Given the description of an element on the screen output the (x, y) to click on. 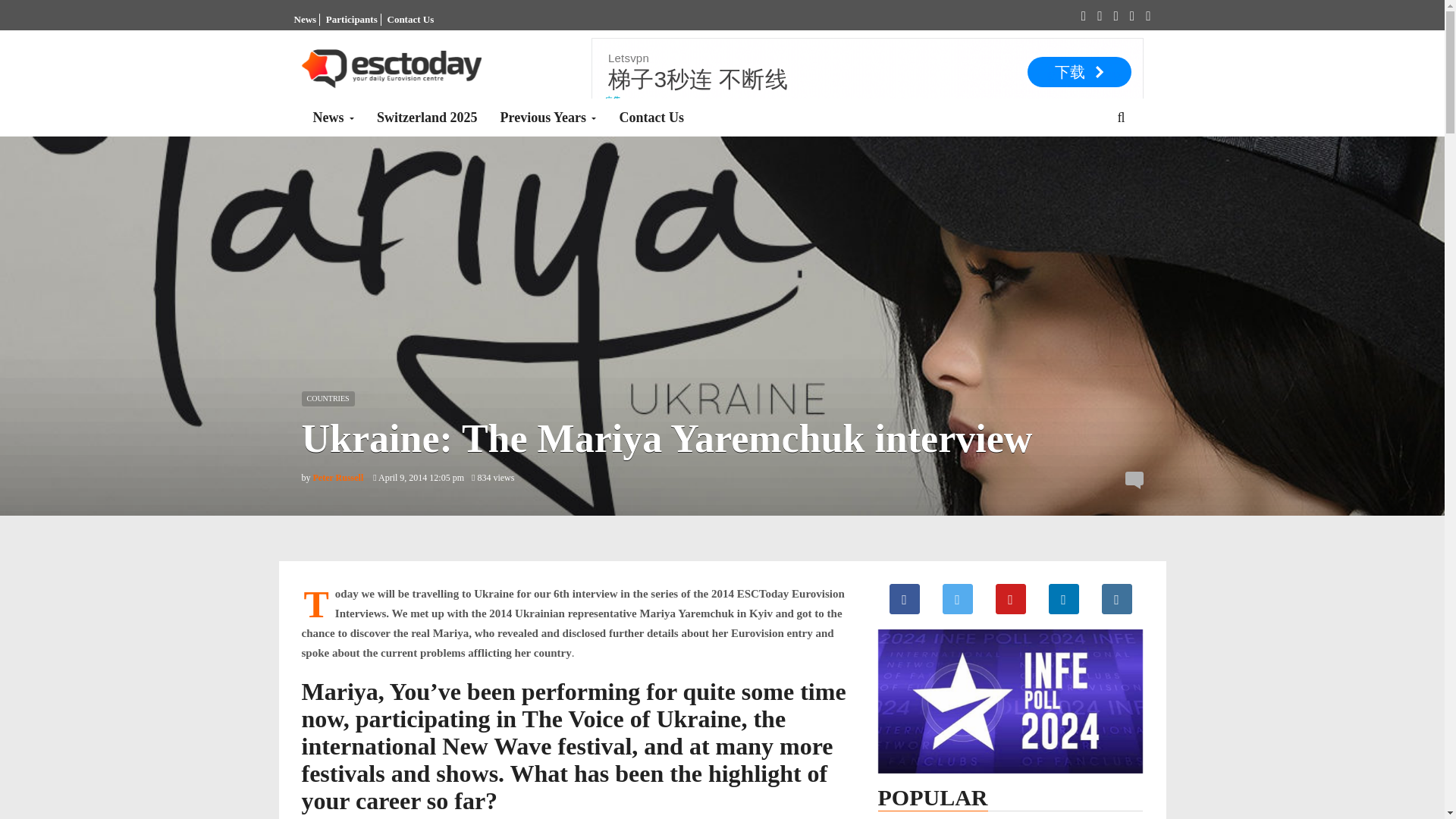
3rd party ad content (866, 71)
Contact Us (410, 19)
News (333, 117)
Participants (351, 19)
News (305, 19)
